Given the description of an element on the screen output the (x, y) to click on. 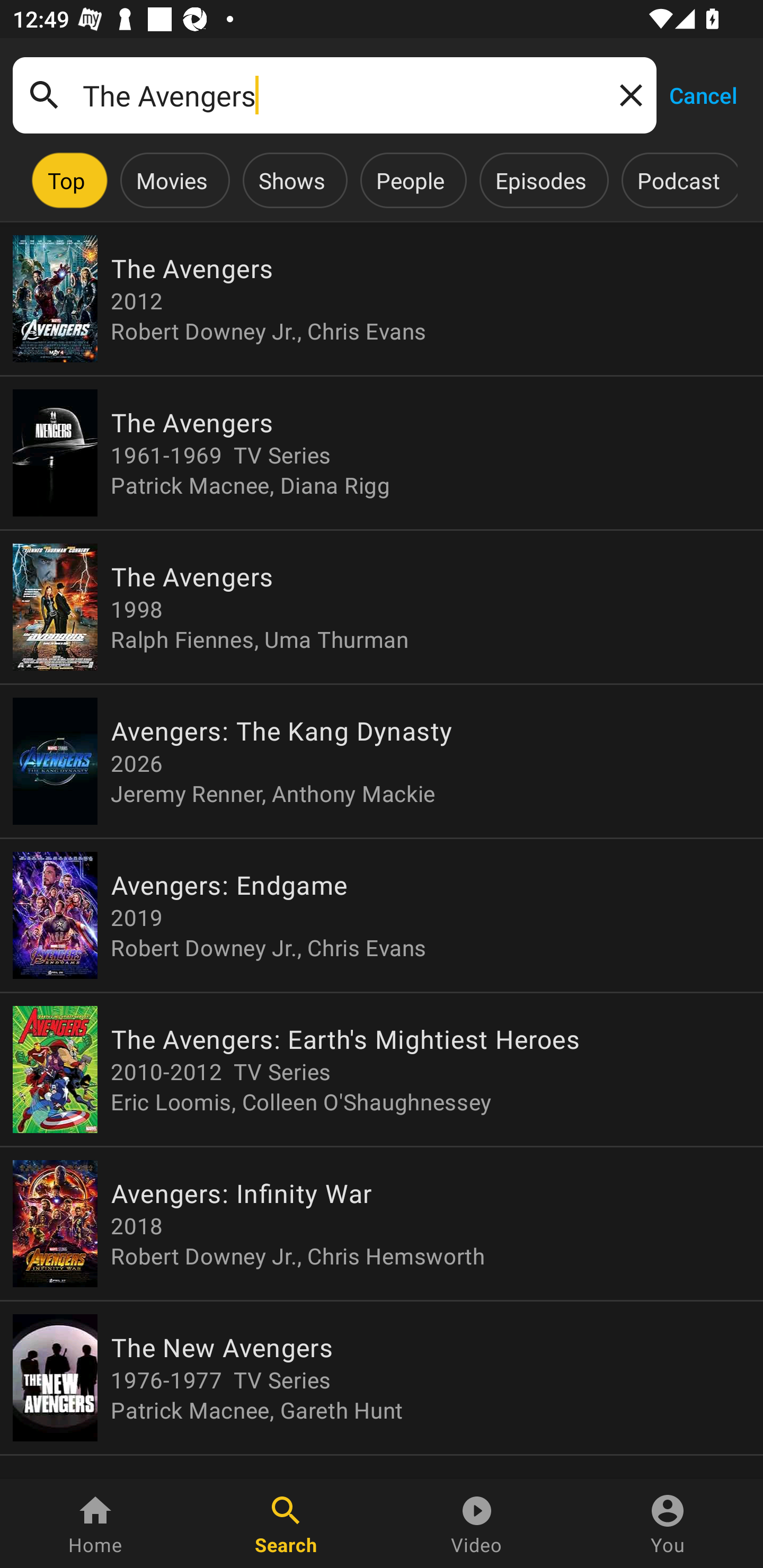
Clear query (627, 94)
Cancel (703, 94)
The Avengers (334, 95)
Top (66, 180)
Movies (171, 180)
Shows (291, 180)
People (410, 180)
Episodes (540, 180)
Podcast (678, 180)
The Avengers 2012 Robert Downey Jr., Chris Evans (381, 298)
The Avengers 1998 Ralph Fiennes, Uma Thurman (381, 607)
Home (95, 1523)
Video (476, 1523)
You (667, 1523)
